Given the description of an element on the screen output the (x, y) to click on. 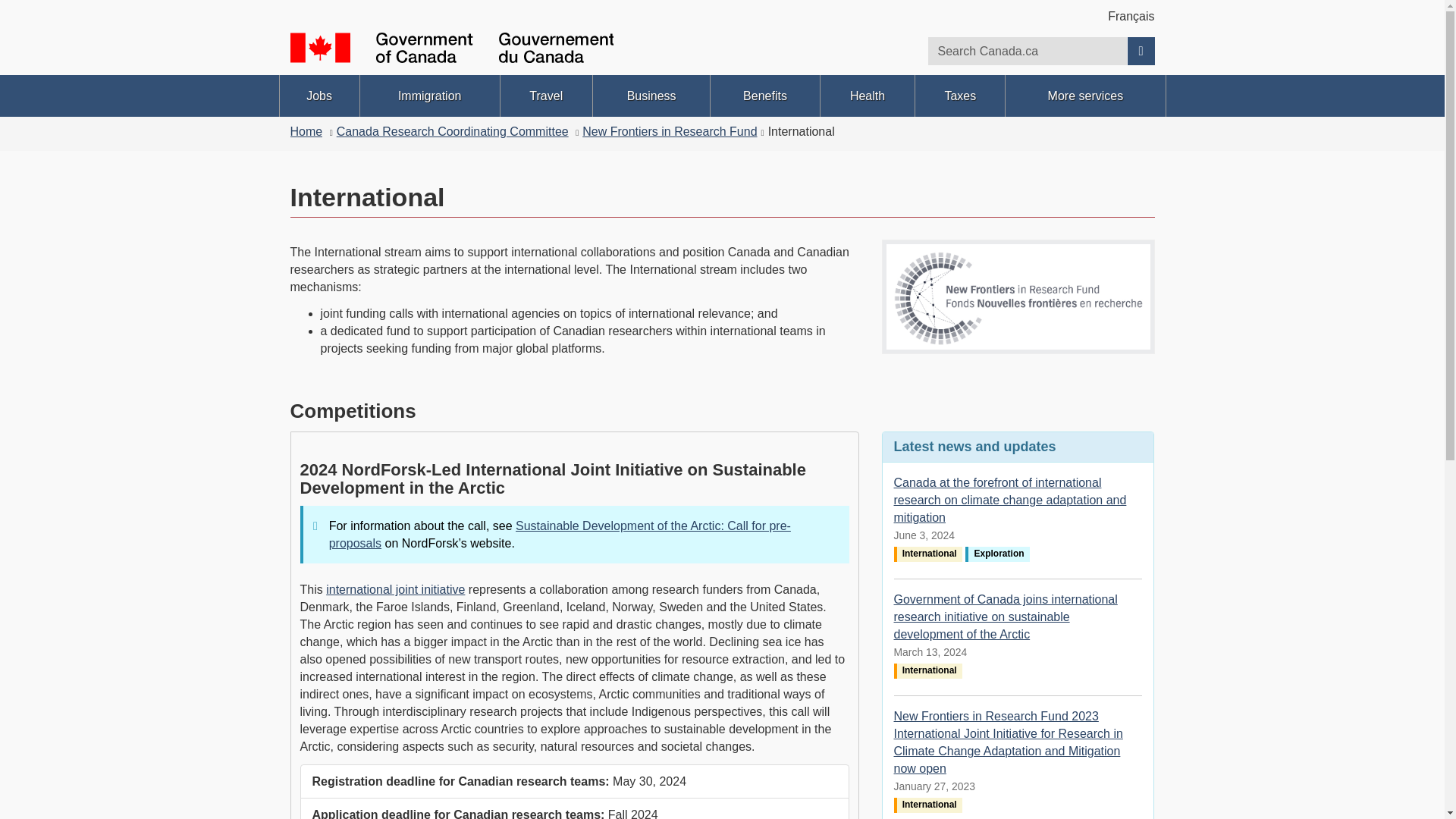
international joint initiative (395, 589)
New Frontiers in Research Fund (669, 131)
Home (305, 131)
Benefits (764, 96)
More services (1085, 96)
Health (868, 96)
Travel (546, 96)
Business (651, 96)
Taxes (959, 96)
Canada Research Coordinating Committee (452, 131)
Jobs (318, 96)
Search (1140, 50)
Immigration (429, 96)
